Given the description of an element on the screen output the (x, y) to click on. 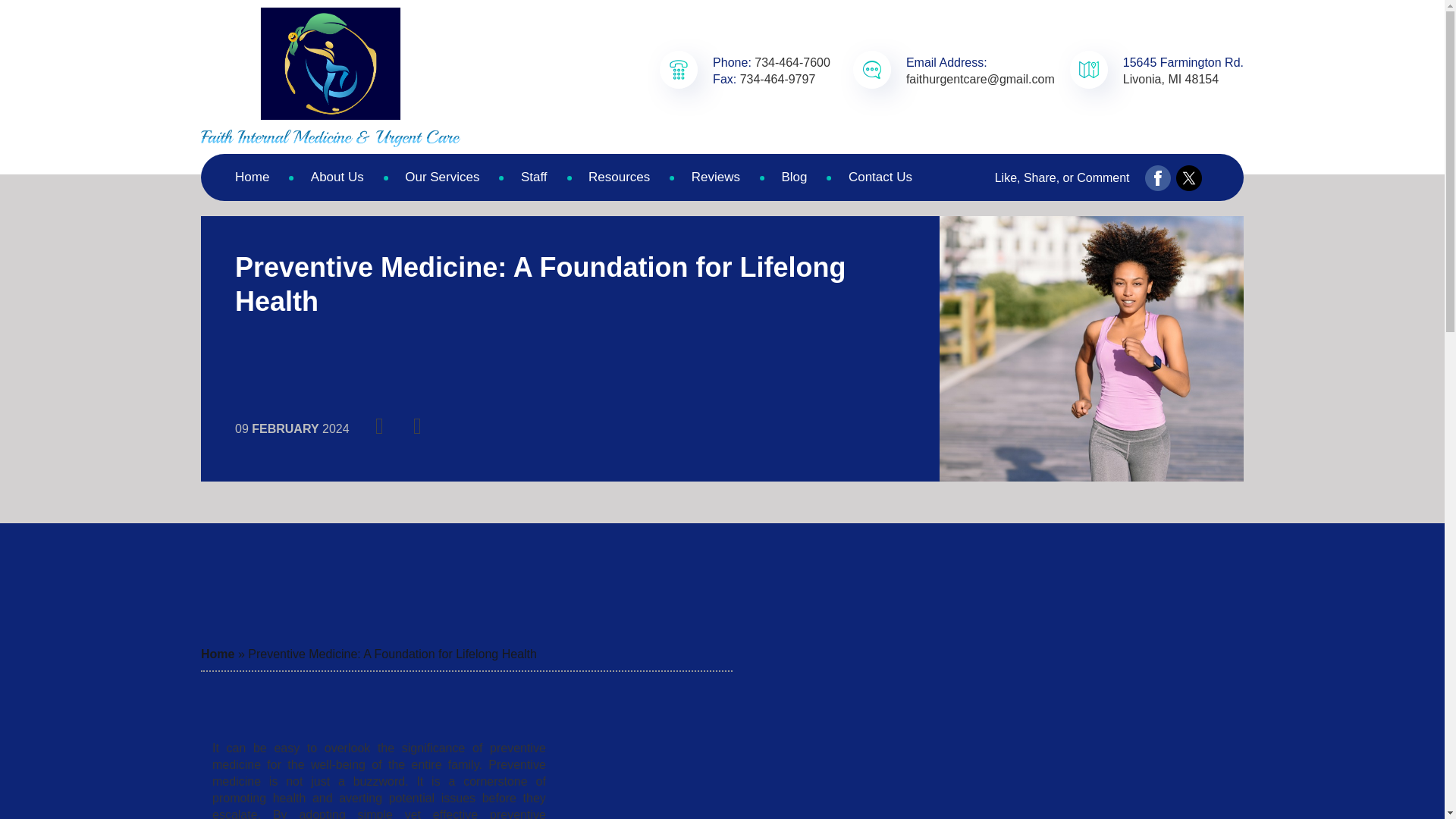
Resources (618, 176)
Our Services (441, 176)
Reviews (715, 176)
Home (217, 653)
About Us (337, 176)
Blog (793, 176)
Contact Us (880, 176)
Staff (534, 176)
Home (251, 176)
